Given the description of an element on the screen output the (x, y) to click on. 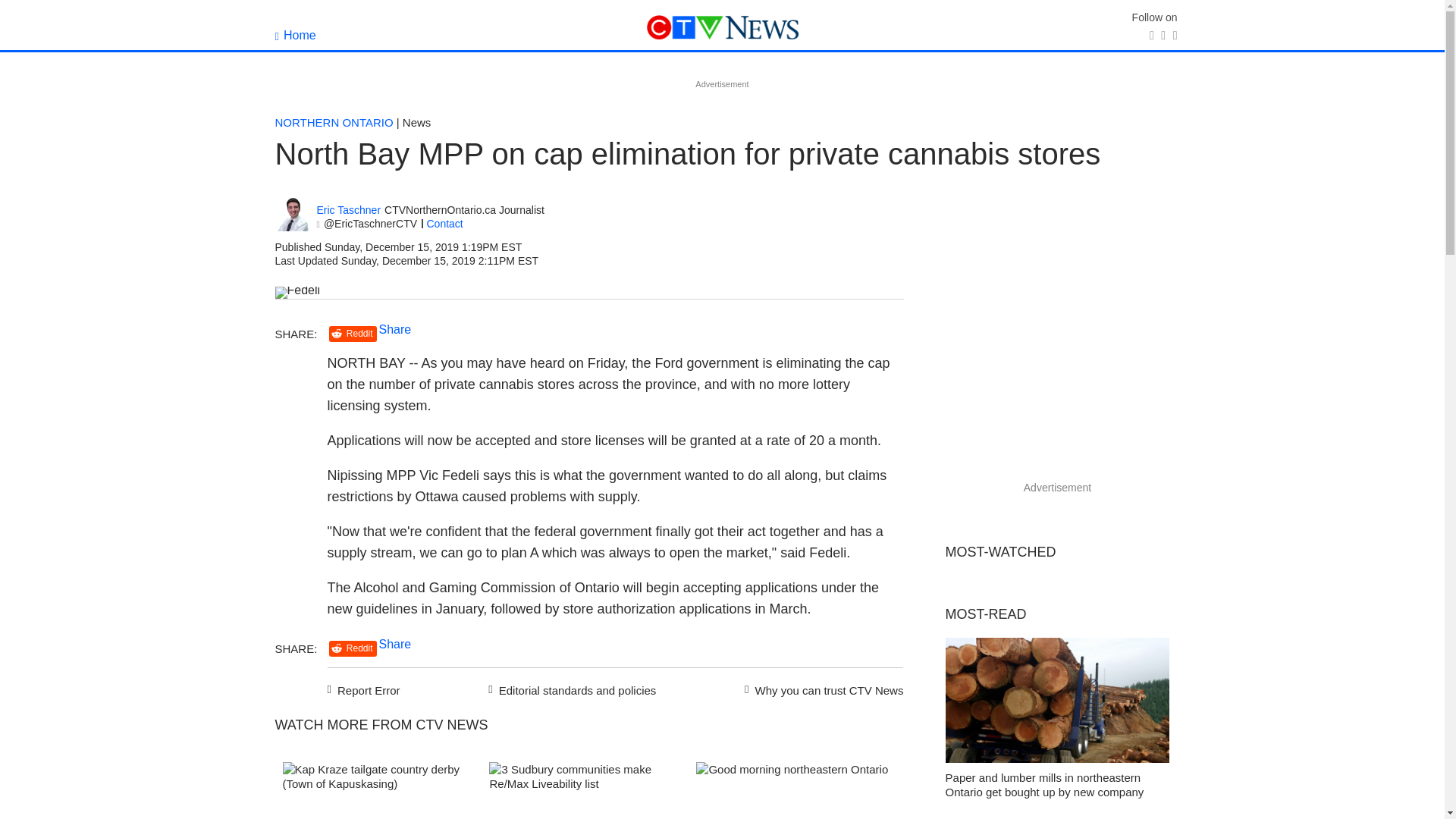
false (585, 790)
false (791, 790)
false (378, 790)
Why you can trust CTV News (820, 688)
NORTHERN ONTARIO (334, 122)
Reddit (353, 648)
Report Error (363, 688)
Home (295, 34)
Share (395, 644)
Share (395, 328)
Contact (444, 223)
Eric Taschner (349, 210)
Reddit (353, 333)
Editorial standards and policies (569, 688)
